Given the description of an element on the screen output the (x, y) to click on. 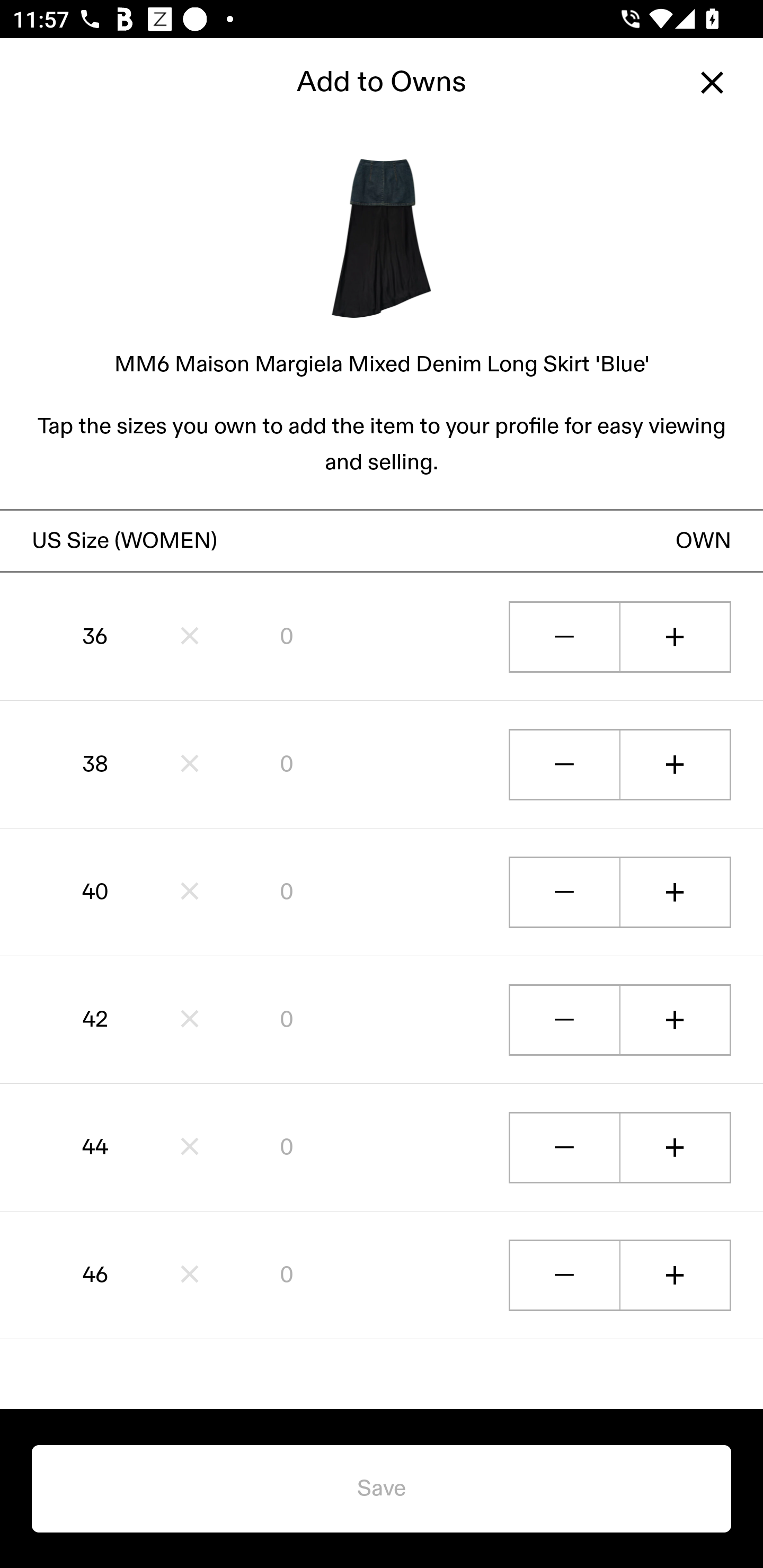
Save (381, 1488)
